Given the description of an element on the screen output the (x, y) to click on. 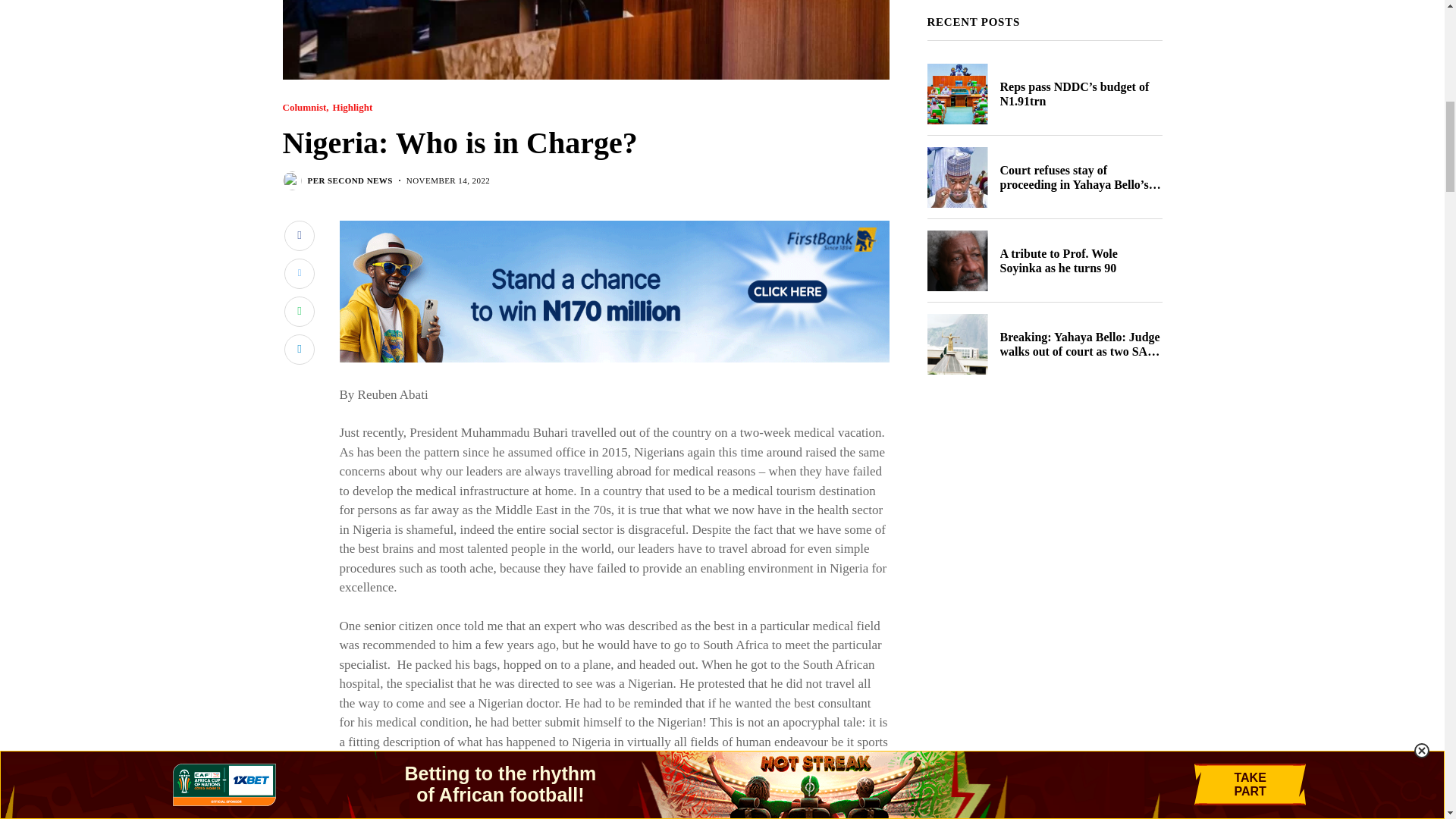
Posts by Per Second News (350, 180)
